Given the description of an element on the screen output the (x, y) to click on. 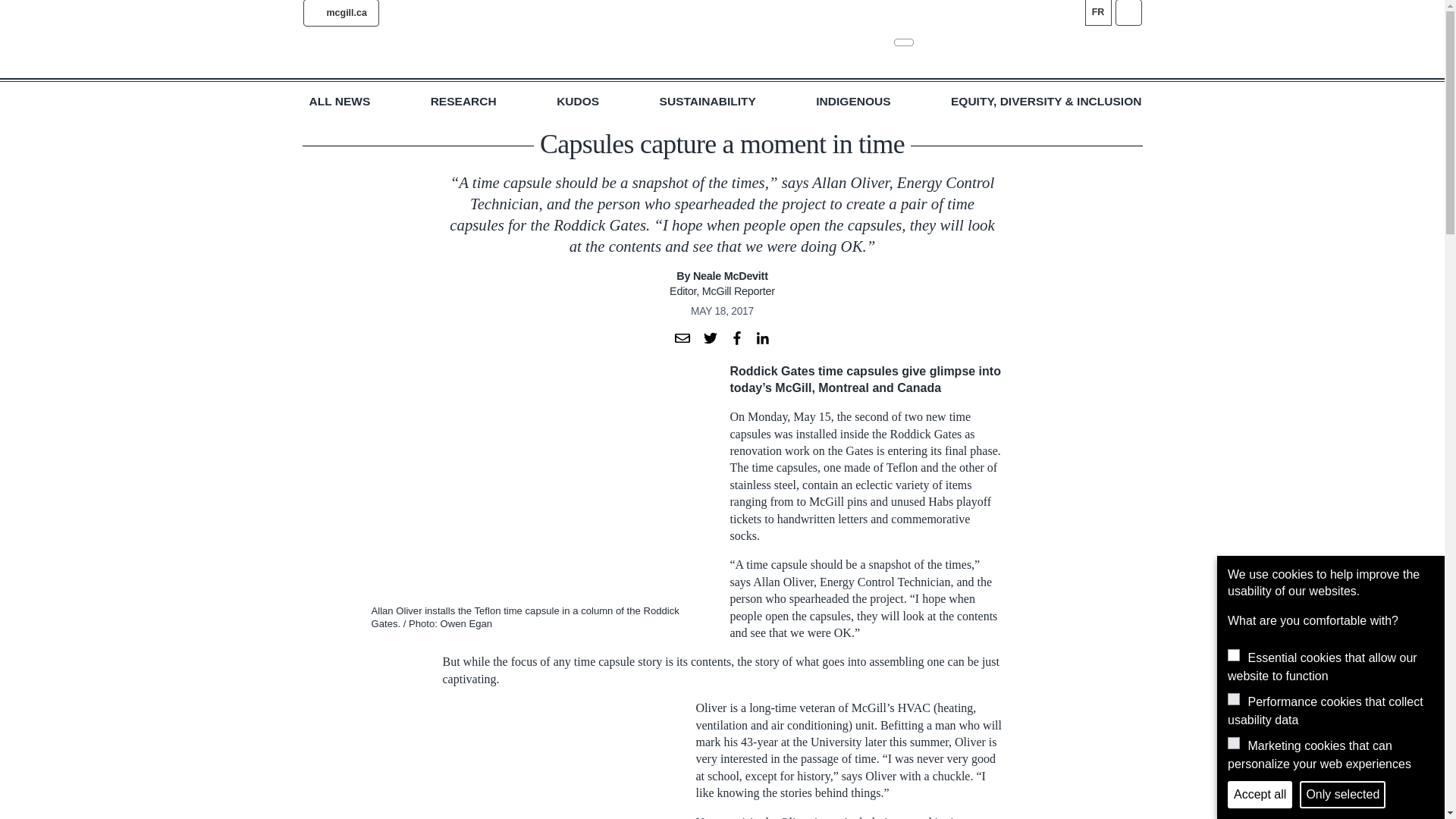
performance (1233, 698)
ALL NEWS (339, 101)
RESEARCH (463, 101)
required (1233, 654)
mcgill.ca (340, 13)
marketing (1233, 743)
KUDOS (576, 101)
INDIGENOUS (852, 101)
SUSTAINABILITY (707, 101)
FR (1097, 12)
